Given the description of an element on the screen output the (x, y) to click on. 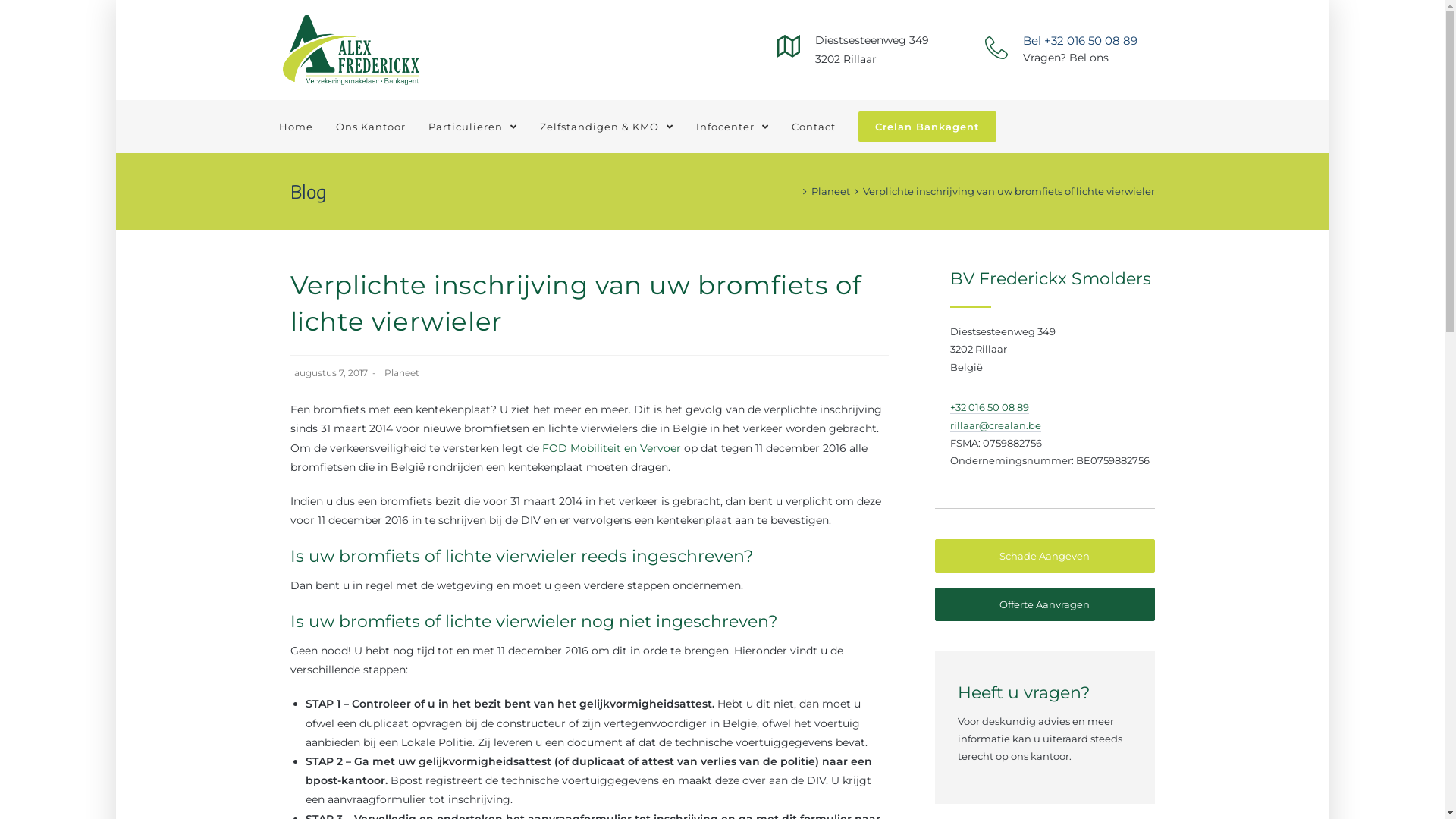
Particulieren Element type: text (472, 126)
Ons Kantoor Element type: text (370, 126)
Zelfstandigen & KMO Element type: text (605, 126)
Contact Element type: text (812, 126)
Home Element type: text (294, 126)
rillaar@crealan.be Element type: text (995, 425)
+32 016 50 08 89 Element type: text (989, 407)
Crelan Bankagent Element type: text (926, 126)
FOD Mobiliteit en Vervoer Element type: text (610, 448)
Planeet Element type: text (830, 191)
Schade Aangeven Element type: text (1044, 555)
Infocenter Element type: text (731, 126)
Offerte Aanvragen Element type: text (1044, 604)
Planeet Element type: text (400, 372)
